Given the description of an element on the screen output the (x, y) to click on. 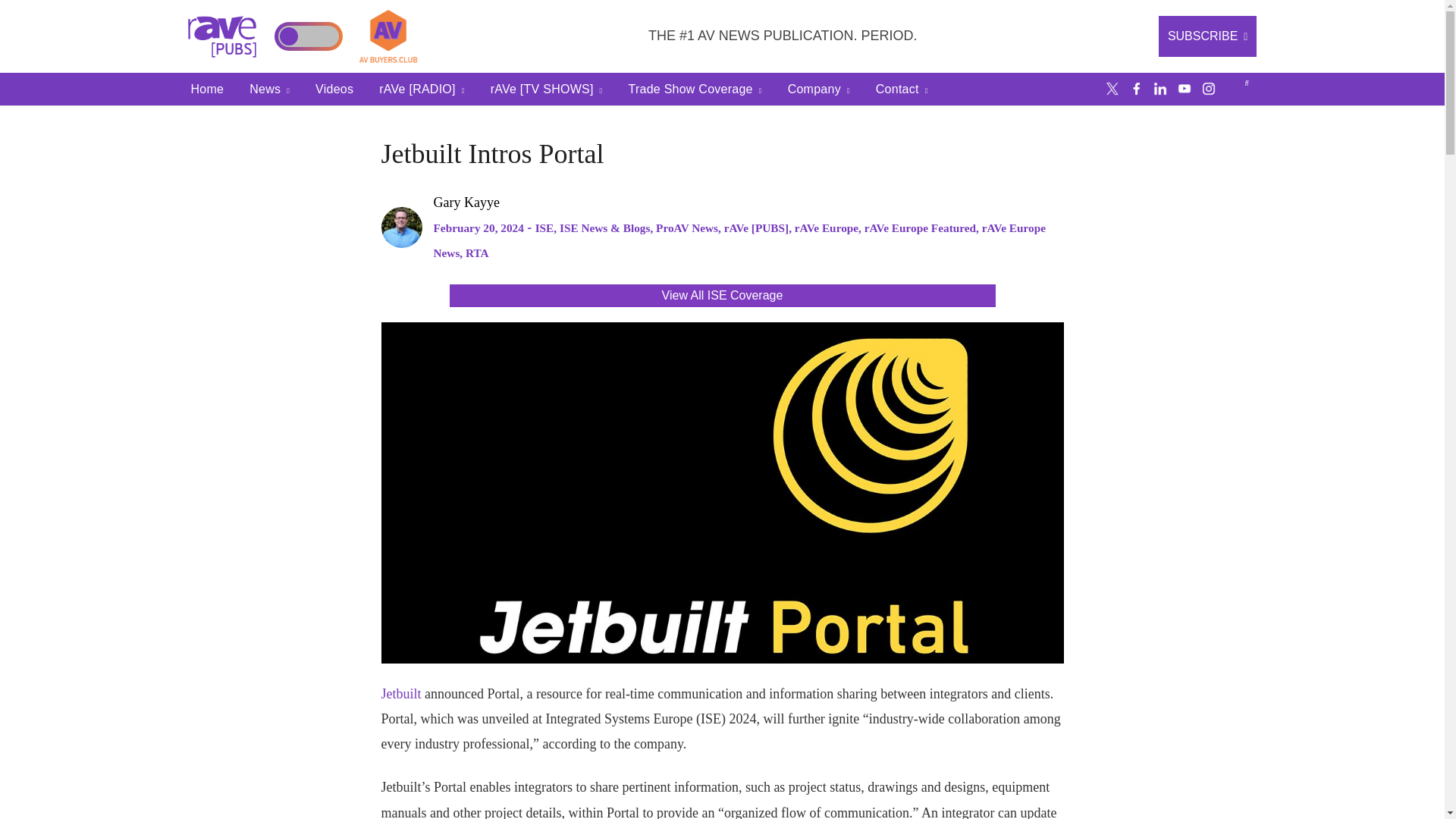
SUBSCRIBE (1207, 36)
